Given the description of an element on the screen output the (x, y) to click on. 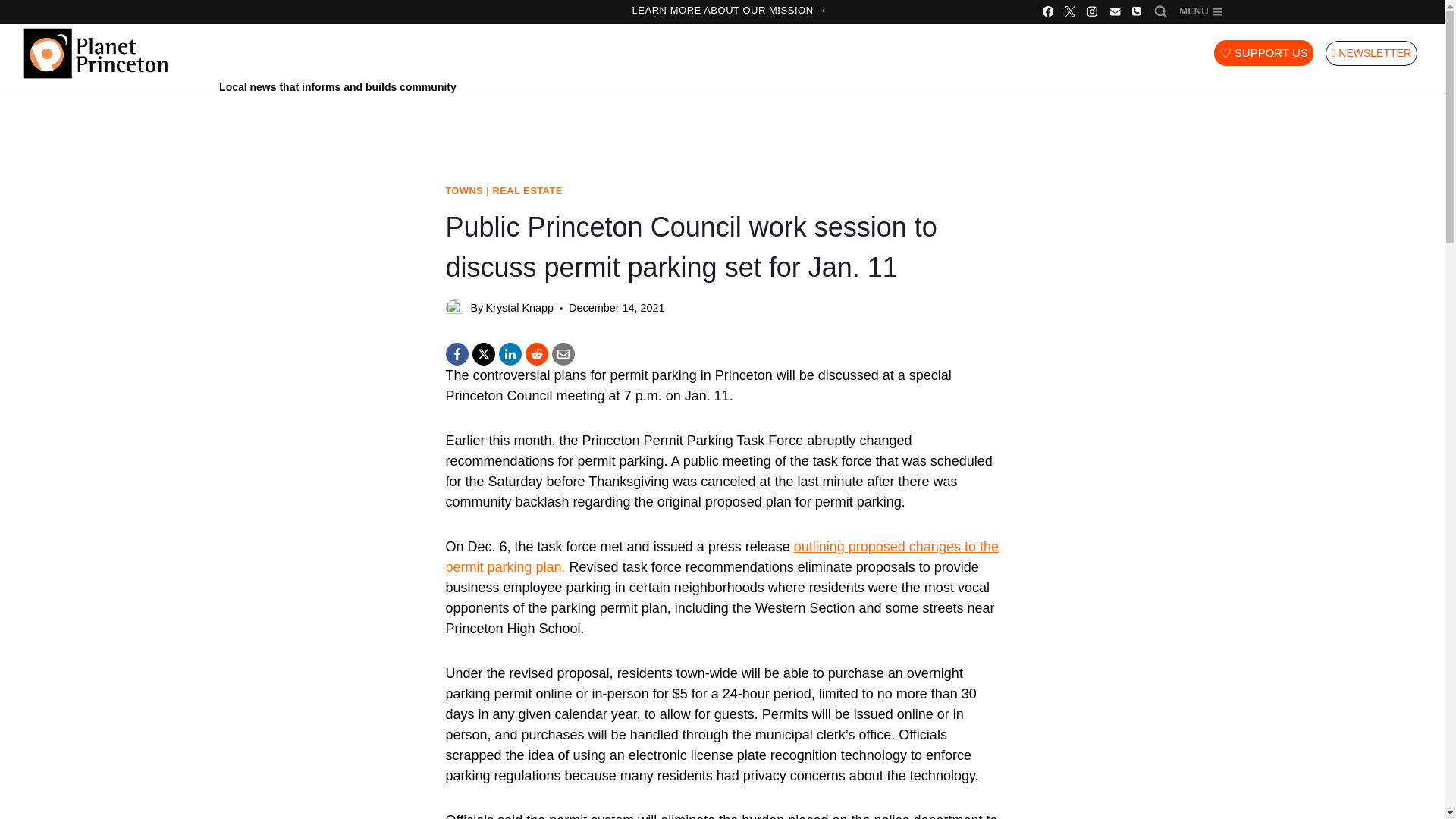
TOWNS (464, 190)
outlining proposed changes to the permit parking plan. (721, 556)
MENU (1199, 11)
Krystal Knapp (518, 307)
REAL ESTATE (527, 190)
